Given the description of an element on the screen output the (x, y) to click on. 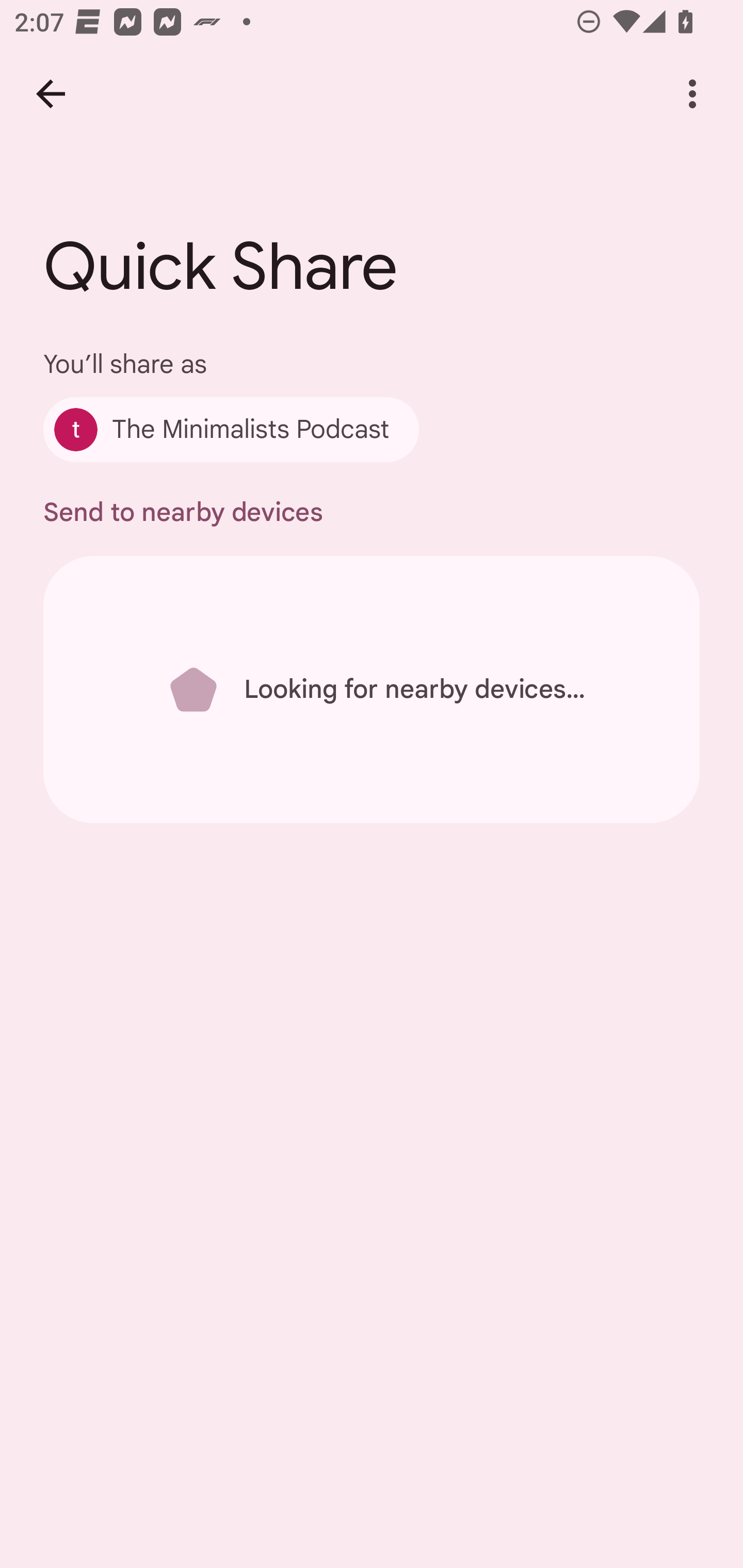
Back (50, 93)
More (692, 93)
The Minimalists Podcast (231, 429)
